Given the description of an element on the screen output the (x, y) to click on. 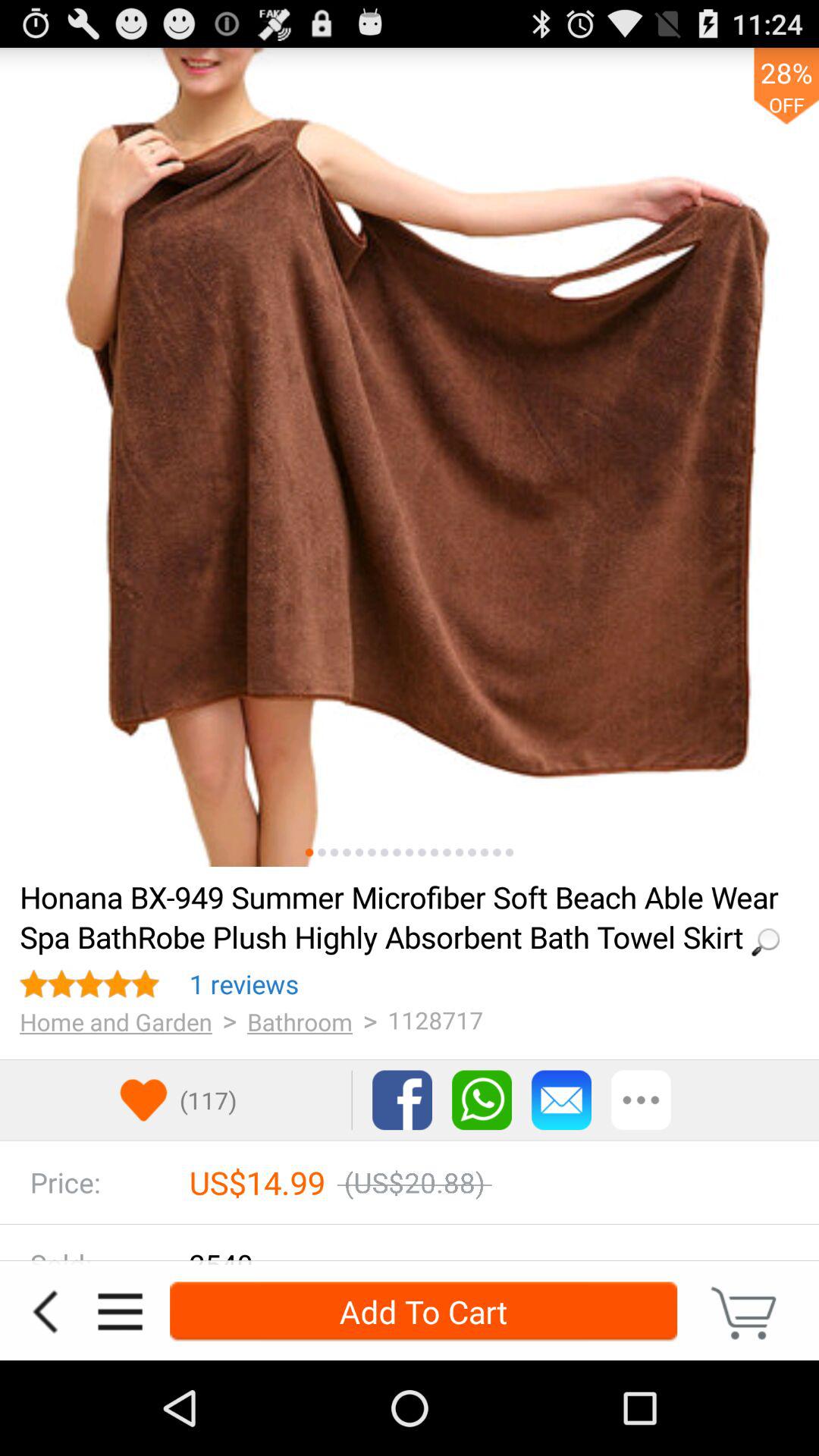
see next image (409, 456)
